Given the description of an element on the screen output the (x, y) to click on. 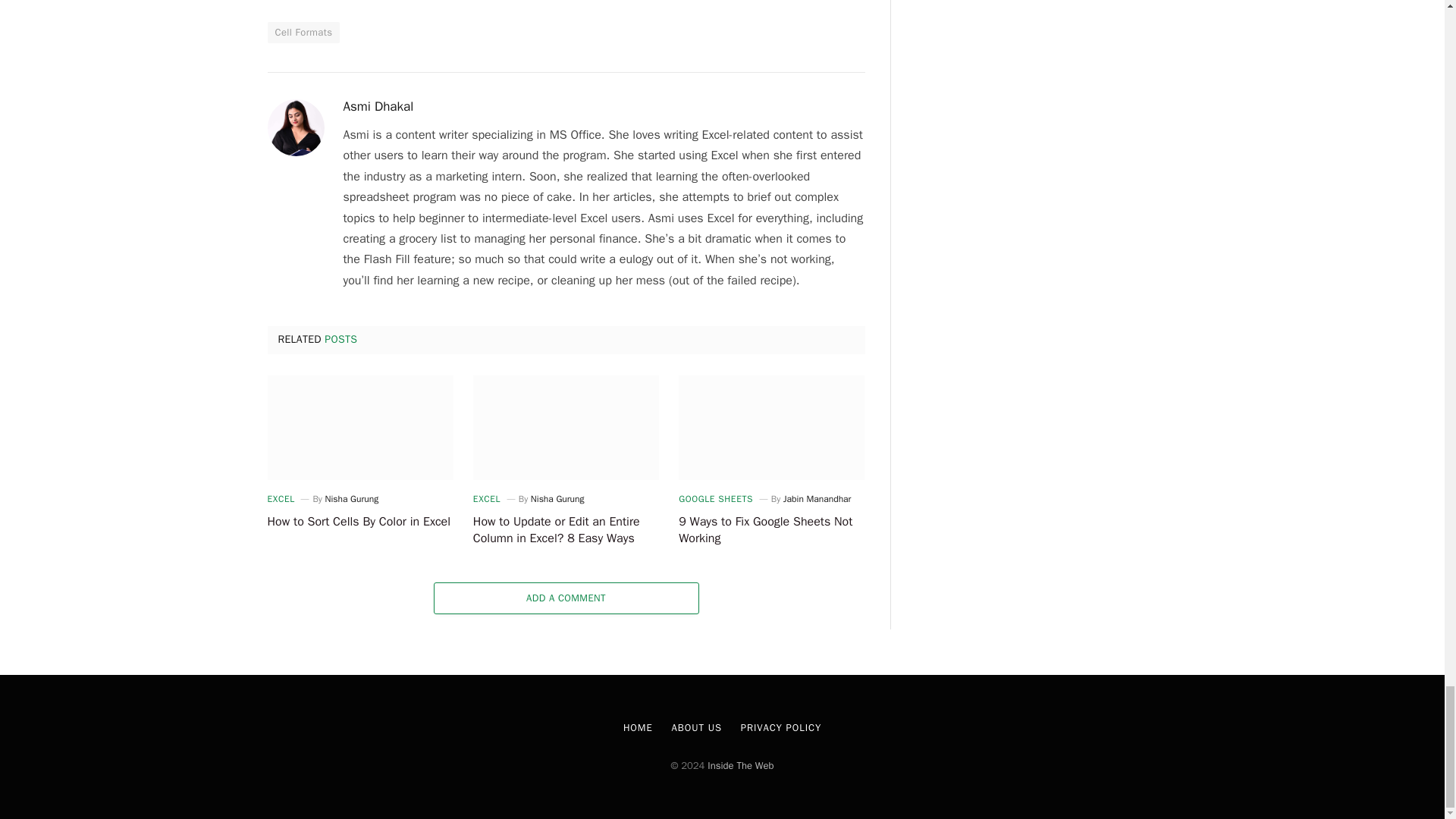
How to Sort Cells By Color in Excel (359, 522)
9 Ways to Fix Google Sheets Not Working (771, 427)
Posts by Jabin Manandhar (817, 499)
Cell Formats (302, 32)
How to Sort Cells By Color in Excel (359, 427)
EXCEL (486, 499)
Nisha Gurung (351, 499)
Posts by Nisha Gurung (558, 499)
EXCEL (280, 499)
Posts by Asmi Dhakal (377, 106)
Asmi Dhakal (377, 106)
How to Update or Edit an Entire Column in Excel? 8 Easy Ways (566, 427)
Posts by Nisha Gurung (351, 499)
